Given the description of an element on the screen output the (x, y) to click on. 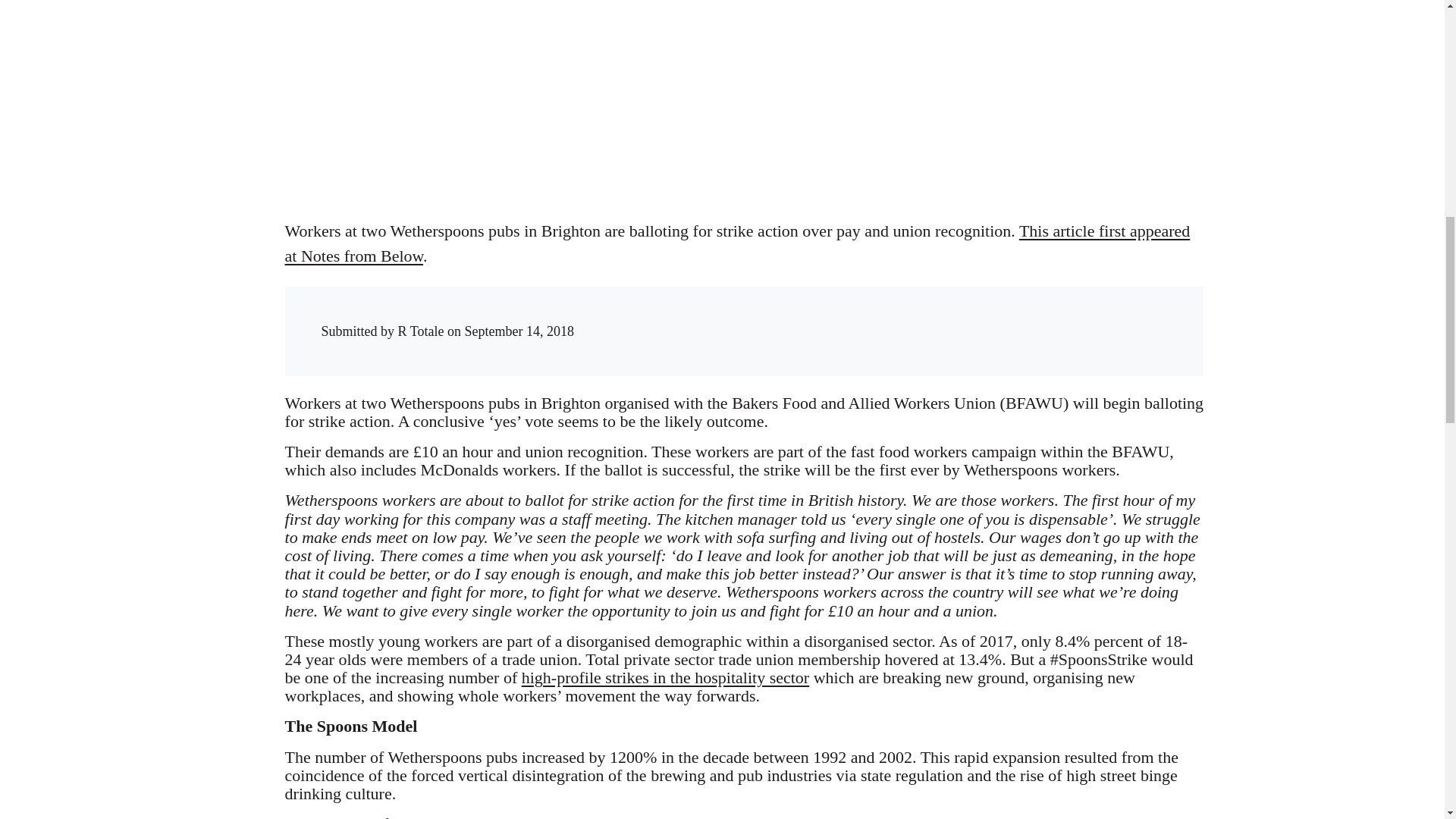
This article first appeared at Notes from Below (738, 243)
Share to Reddit (975, 316)
high-profile strikes in the hospitality sector (665, 677)
Share to Facebook (914, 316)
Share to Twitter (945, 316)
